Given the description of an element on the screen output the (x, y) to click on. 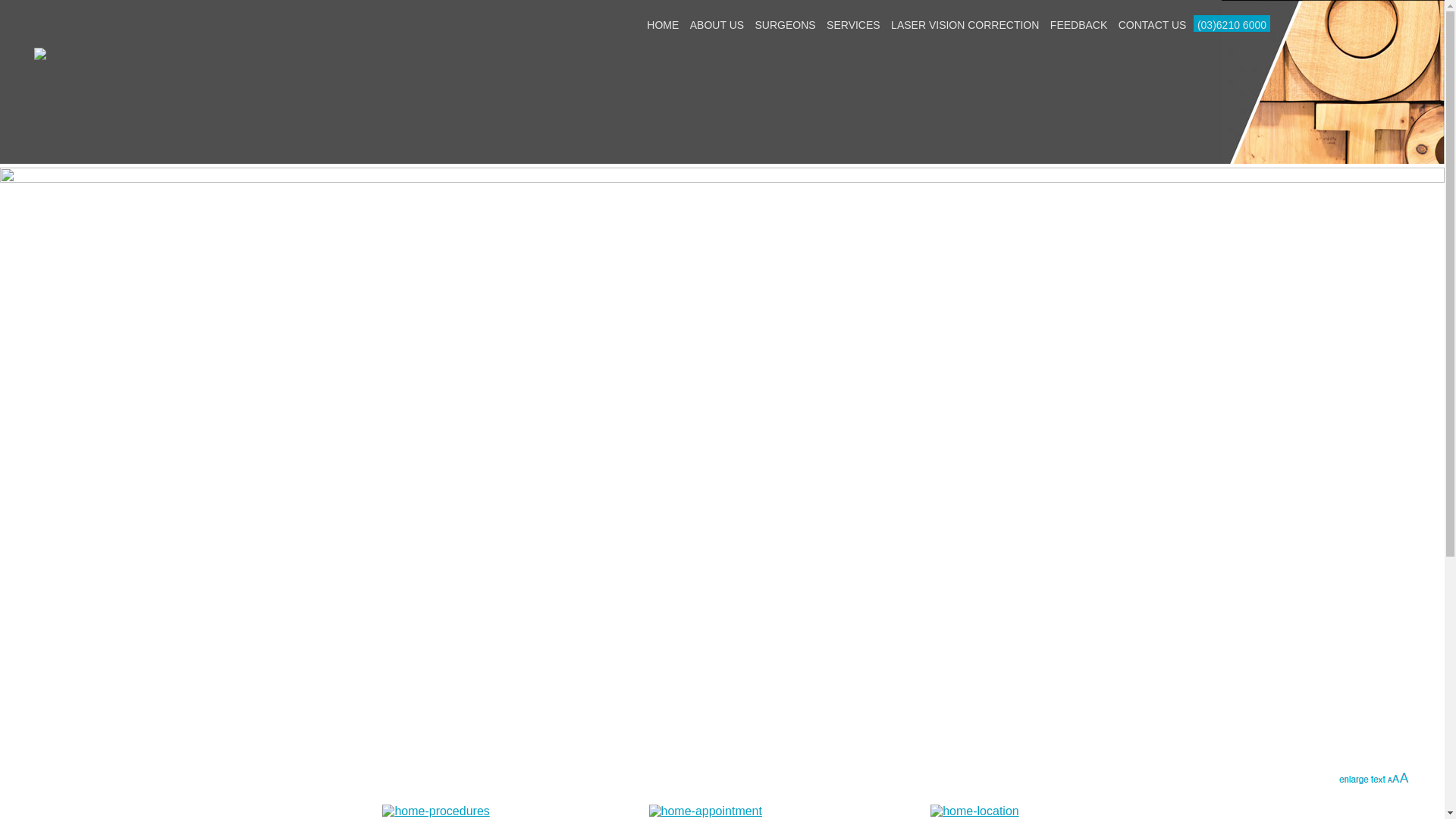
HES_WebSlider_COVID Element type: hover (722, 468)
LASER VISION CORRECTION Element type: text (964, 24)
SERVICES Element type: text (853, 24)
CONTACT US Element type: text (1152, 24)
SURGEONS Element type: text (785, 24)
ABOUT US Element type: text (716, 24)
FEEDBACK Element type: text (1078, 24)
(03)6210 6000 Element type: text (1231, 24)
HOME Element type: text (662, 24)
